Given the description of an element on the screen output the (x, y) to click on. 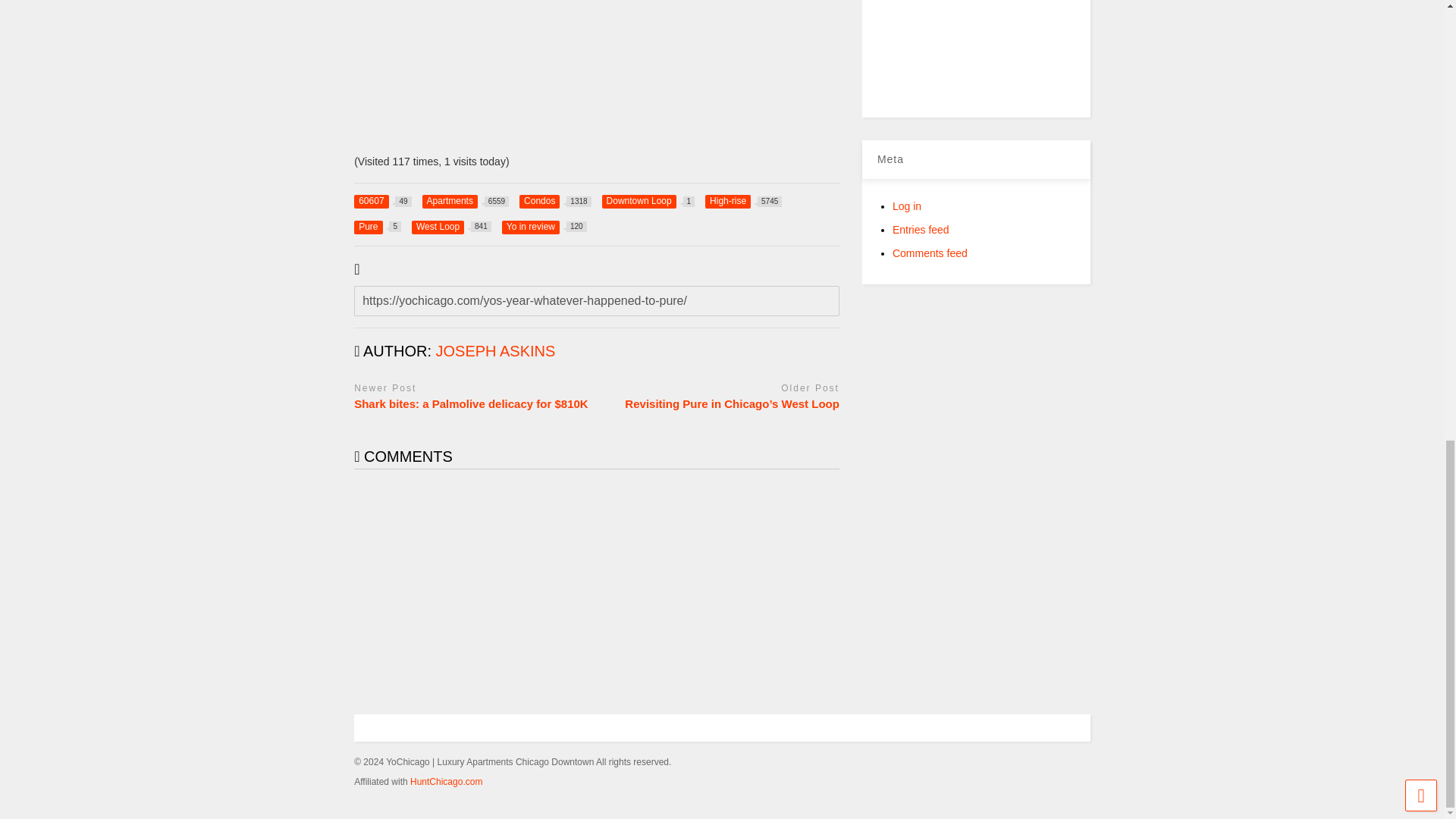
Advertisement (996, 58)
author profile (495, 351)
